Given the description of an element on the screen output the (x, y) to click on. 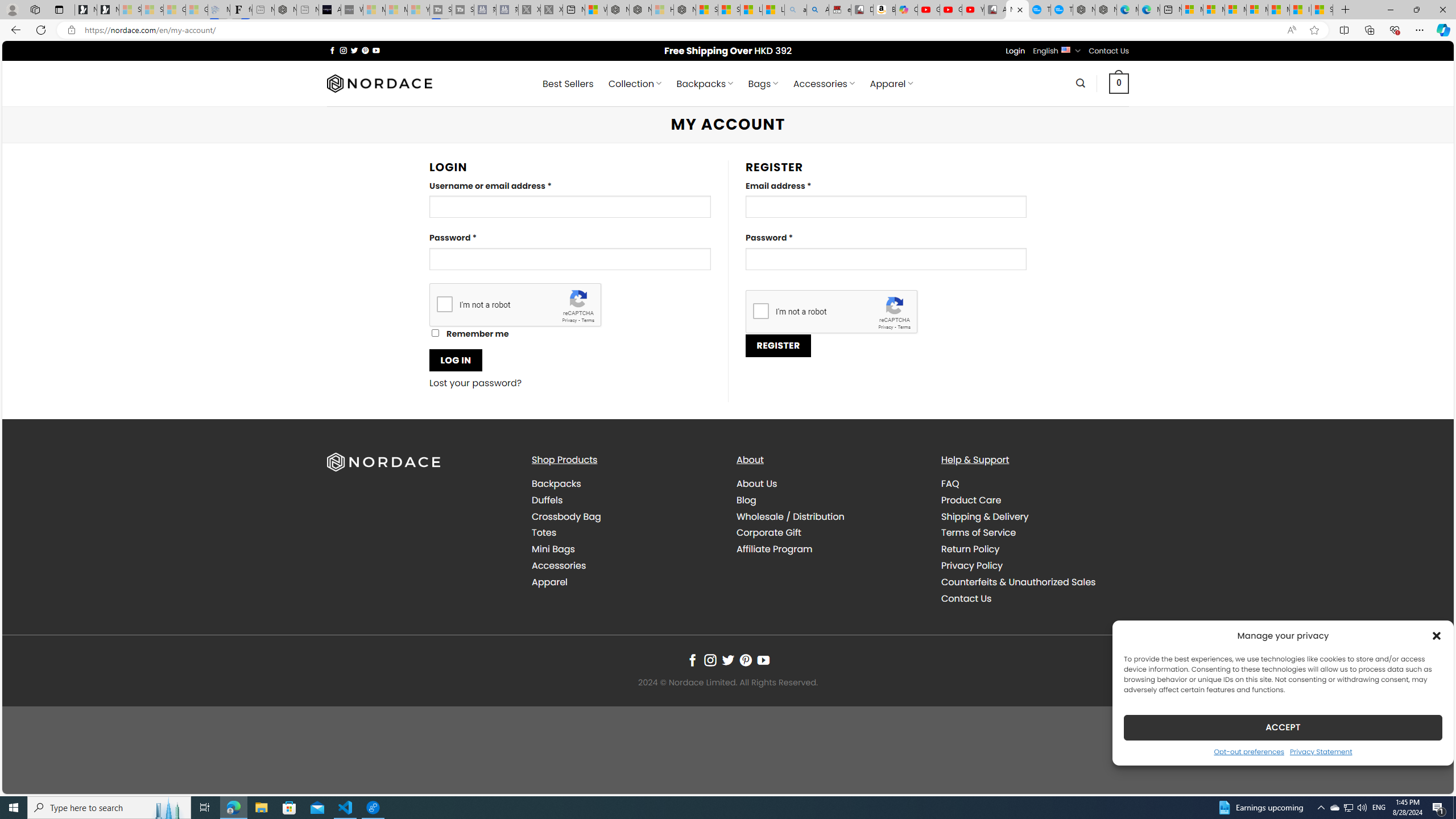
ACCEPT (1283, 727)
Nordace - Nordace has arrived Hong Kong (1105, 9)
Shipping & Delivery (1034, 516)
Crossbody Bag (625, 516)
Go to top (1430, 777)
Amazon Echo Dot PNG - Search Images (818, 9)
Follow on Twitter (727, 659)
Wholesale / Distribution (830, 516)
Counterfeits & Unauthorized Sales (1018, 581)
